Given the description of an element on the screen output the (x, y) to click on. 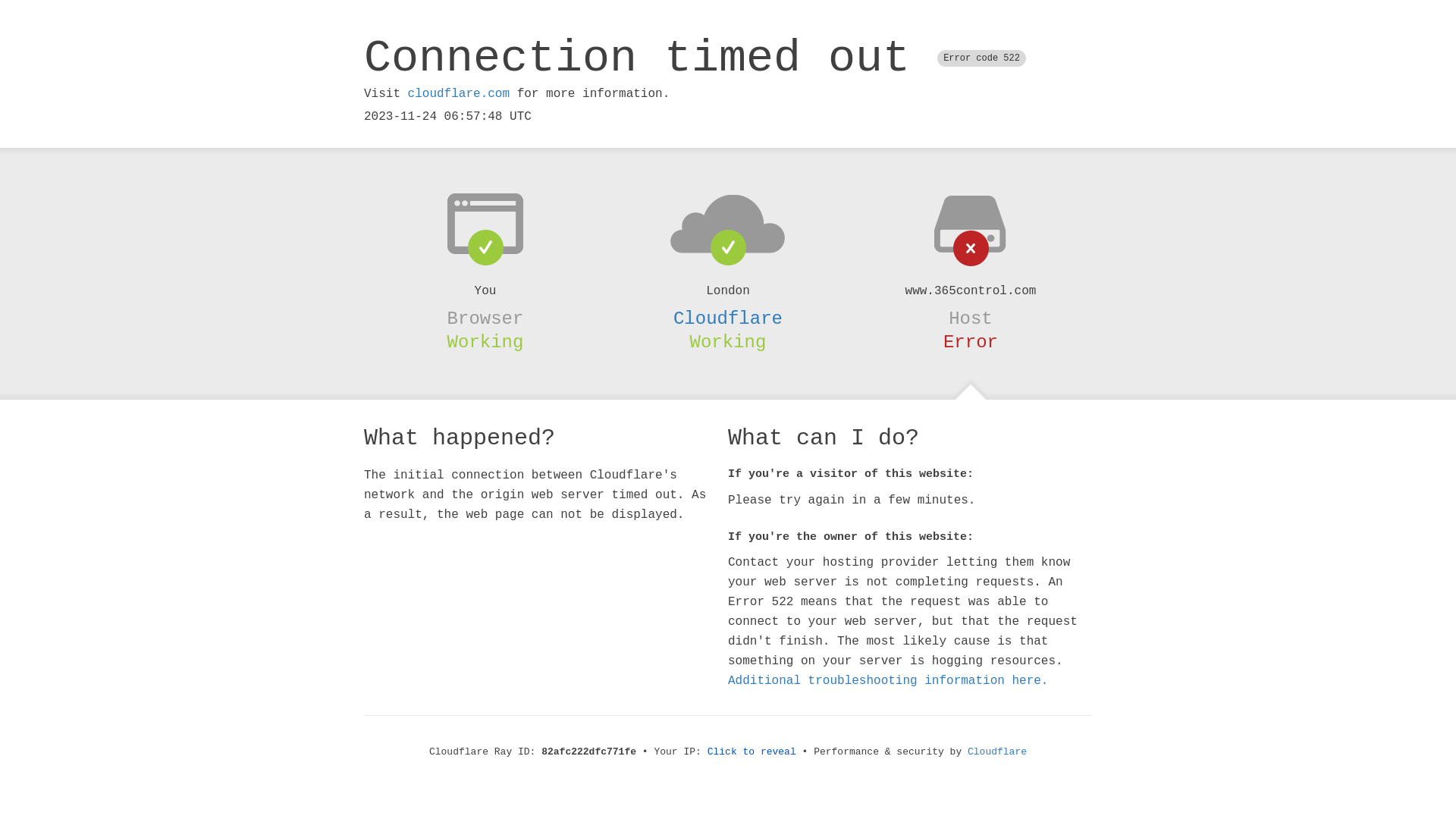
Cloudflare Element type: text (727, 318)
Cloudflare Element type: text (996, 751)
Additional troubleshooting information here. Element type: text (888, 680)
cloudflare.com Element type: text (458, 93)
Click to reveal Element type: text (751, 751)
